Given the description of an element on the screen output the (x, y) to click on. 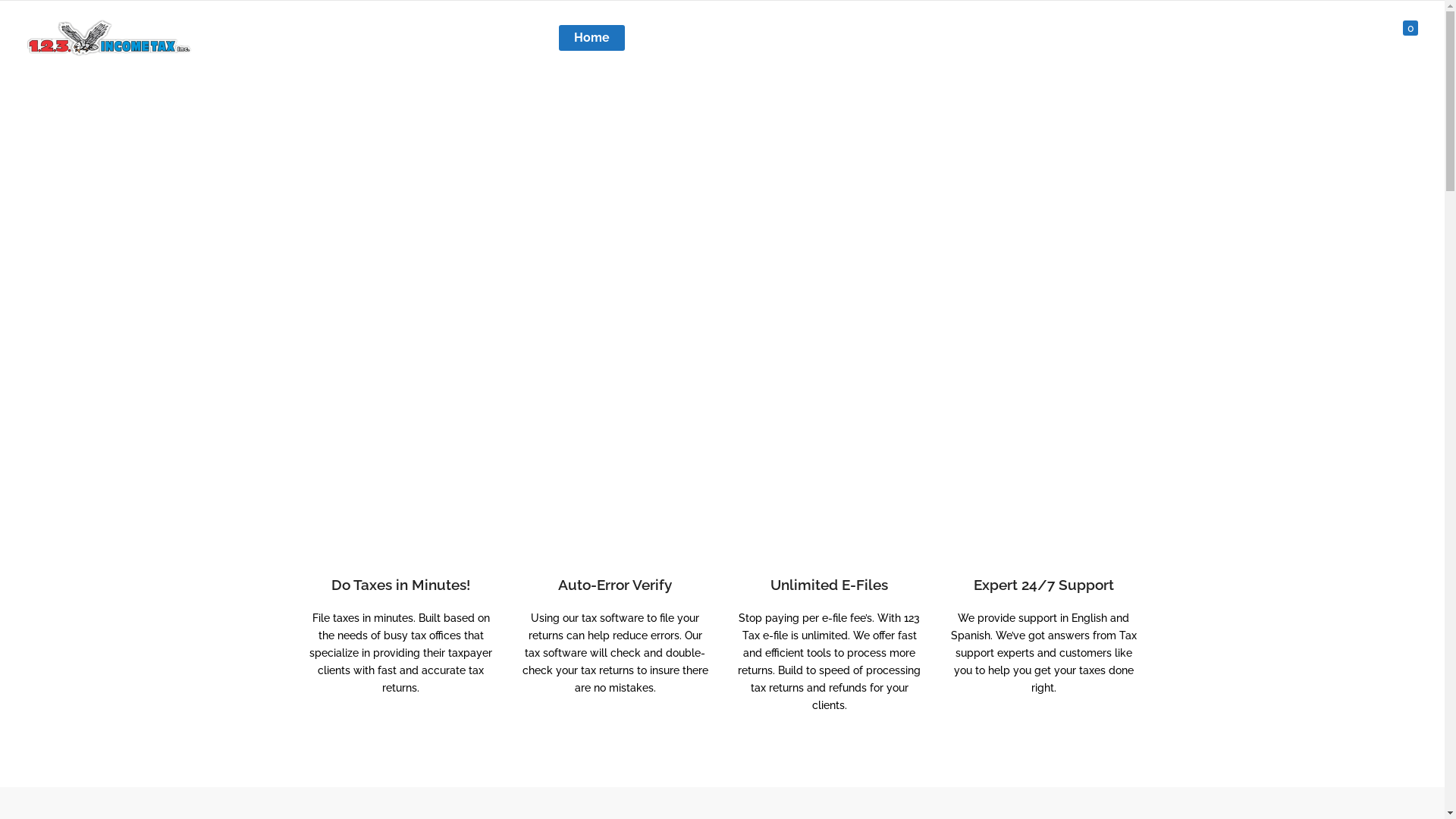
Quick Links Element type: text (1252, 37)
Bookkeeping Element type: text (1146, 37)
Income Tax Services Element type: text (703, 37)
Income Tax Software Element type: text (859, 37)
Home Element type: text (591, 37)
Income Tax Courses Element type: text (1014, 37)
Contact Element type: text (1342, 37)
0 Element type: text (1403, 37)
